Given the description of an element on the screen output the (x, y) to click on. 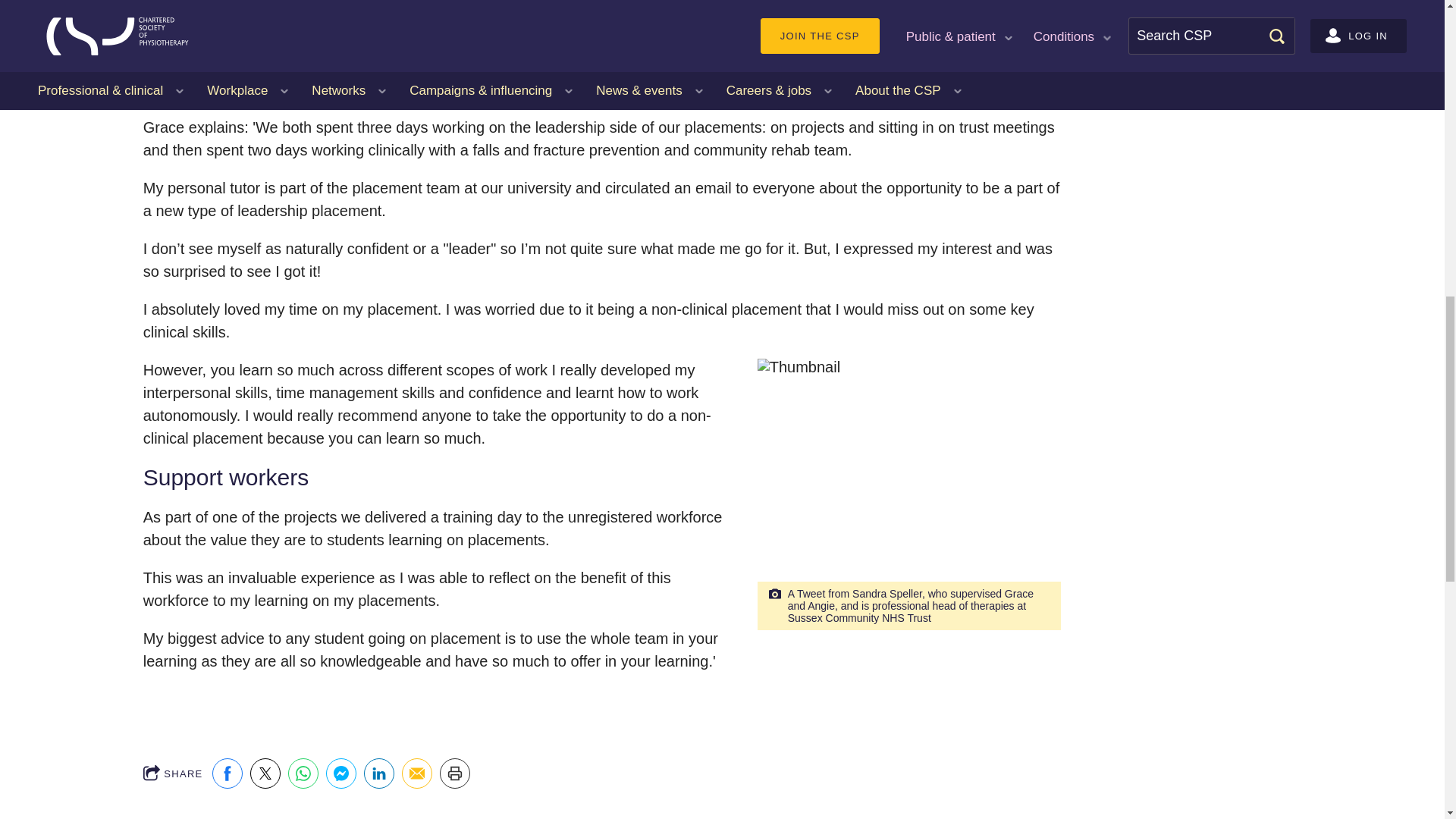
Email (416, 773)
Facebook (227, 773)
student Grace Ogunlola (597, 50)
Facebook messenger (341, 773)
Grace Ogunlola (909, 486)
WhatsApp (303, 773)
Linkedin (379, 773)
